Given the description of an element on the screen output the (x, y) to click on. 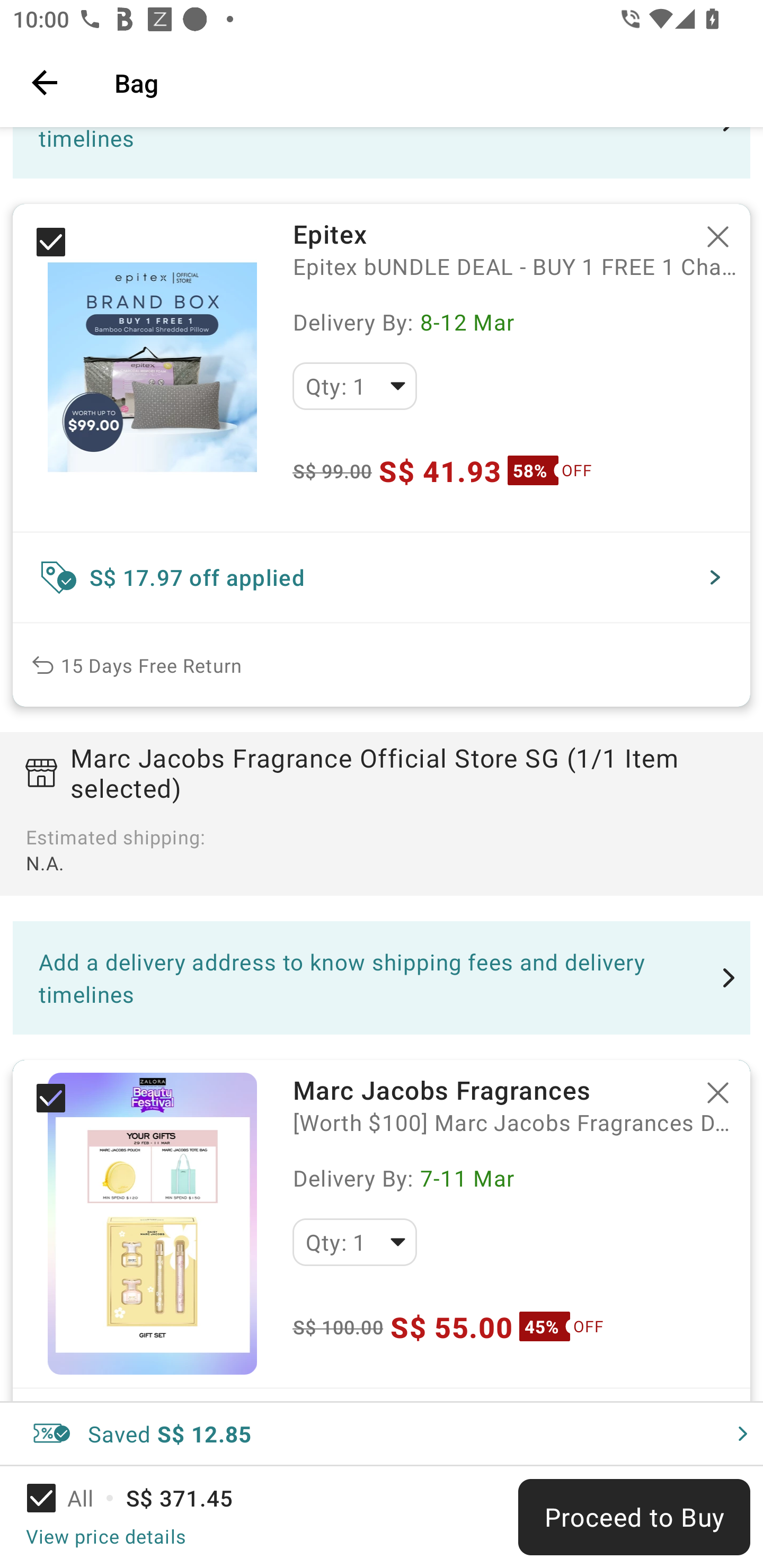
Navigate up (44, 82)
Bag (426, 82)
Qty: 1 (354, 385)
S$ 17.97 off applied (381, 577)
Qty: 1 (354, 1241)
Saved S$ 12.85 (381, 1433)
All (72, 1497)
Proceed to Buy (634, 1516)
View price details (105, 1535)
